Given the description of an element on the screen output the (x, y) to click on. 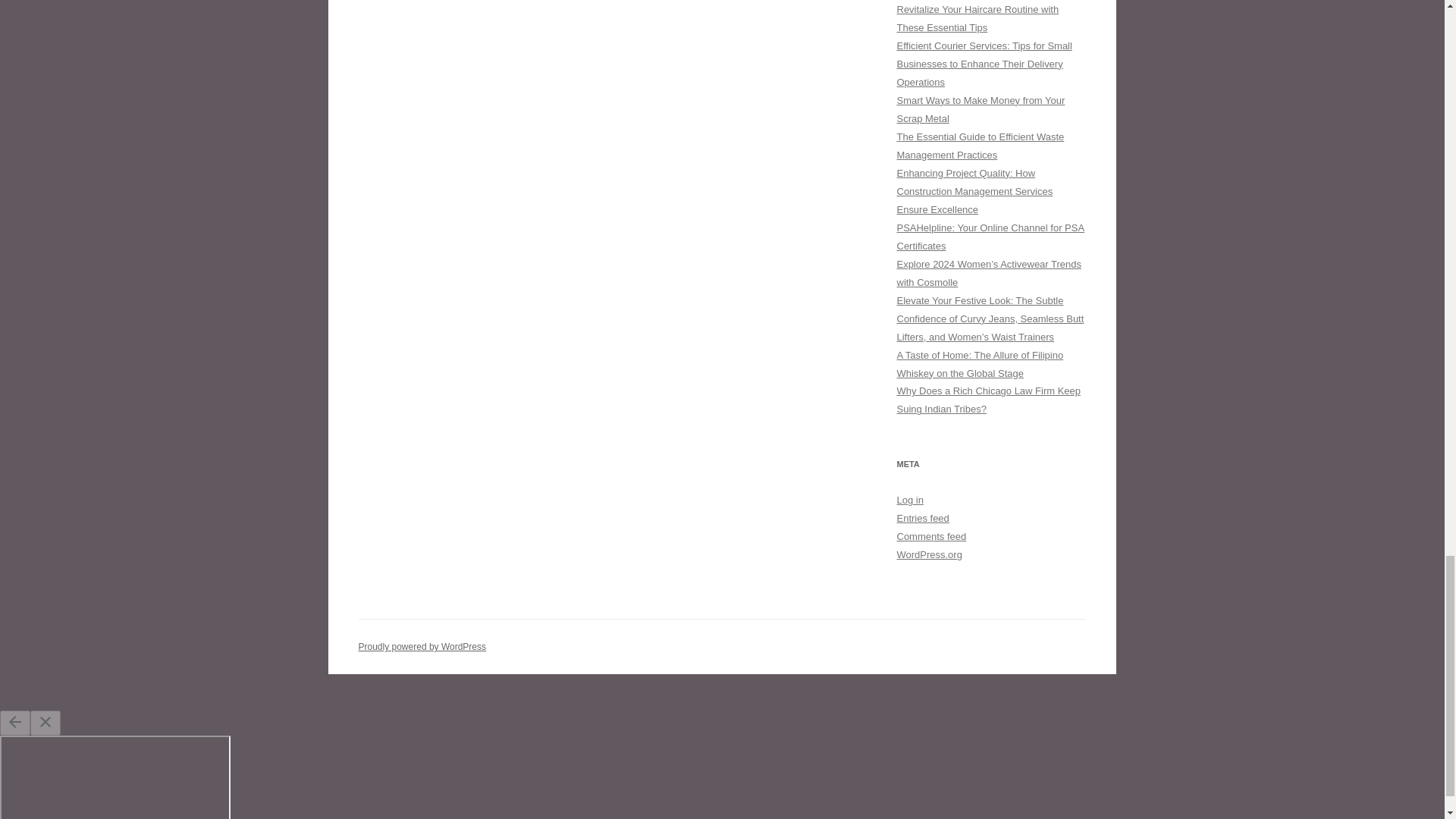
Semantic Personal Publishing Platform (422, 646)
Why Does a Rich Chicago Law Firm Keep Suing Indian Tribes? (988, 399)
Entries feed (922, 518)
PSAHelpline: Your Online Channel for PSA Certificates (990, 236)
Comments feed (931, 536)
Log in (909, 500)
The Essential Guide to Efficient Waste Management Practices (980, 145)
Smart Ways to Make Money from Your Scrap Metal (980, 109)
Revitalize Your Haircare Routine with These Essential Tips (977, 18)
